Given the description of an element on the screen output the (x, y) to click on. 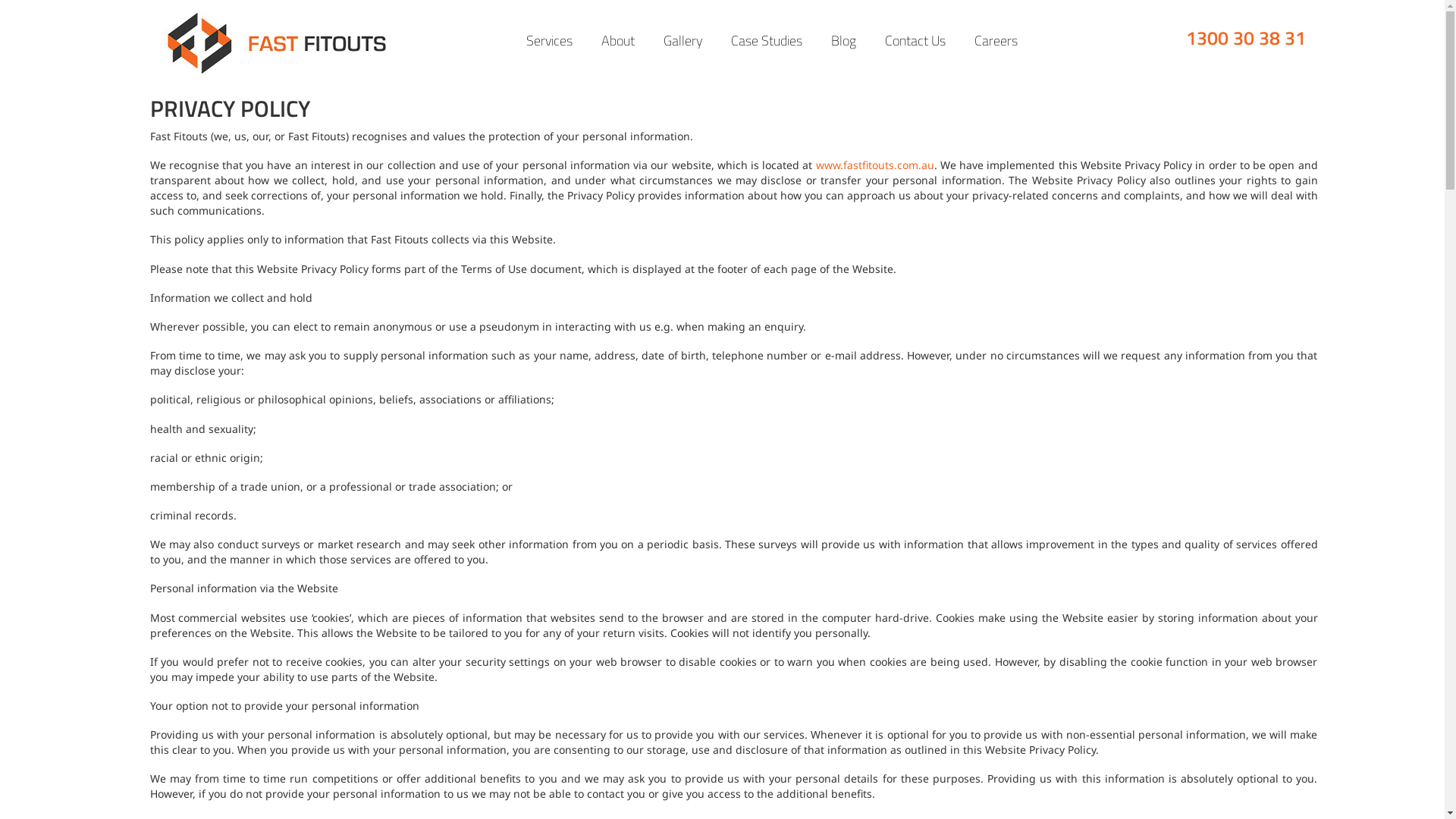
1300 30 38 31 Element type: text (1245, 37)
Case Studies Element type: text (766, 40)
About Element type: text (617, 40)
Contact Us Element type: text (914, 40)
Services Element type: text (549, 40)
www.fastfitouts.com.au Element type: text (874, 164)
Careers Element type: text (995, 40)
Fast Fitouts Element type: hover (275, 42)
Blog Element type: text (843, 40)
Gallery Element type: text (682, 40)
